Given the description of an element on the screen output the (x, y) to click on. 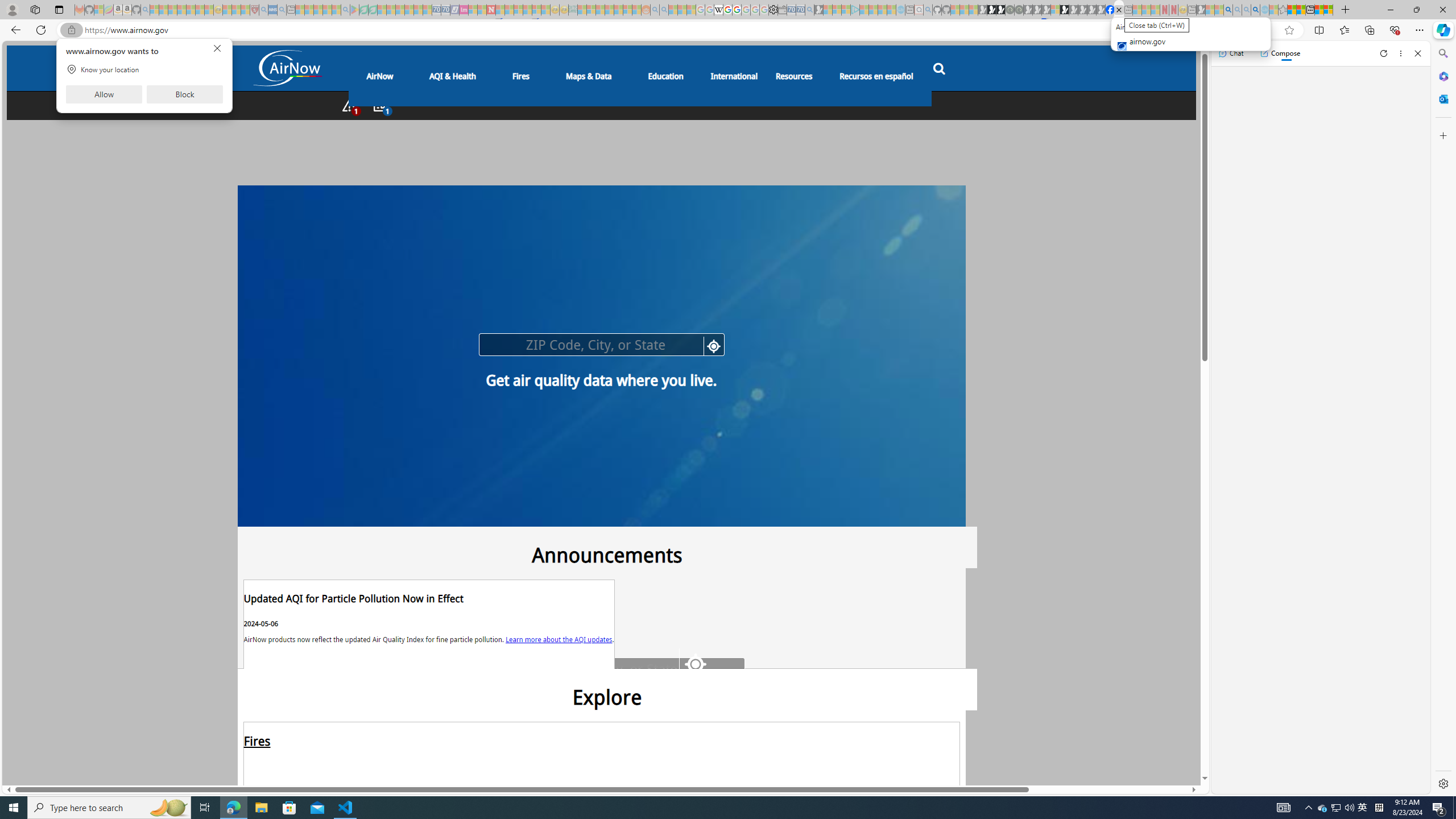
Sign in to your account - Sleeping (1054, 9)
Chat (1230, 52)
Privacy Help Center - Policies Help (726, 9)
